Given the description of an element on the screen output the (x, y) to click on. 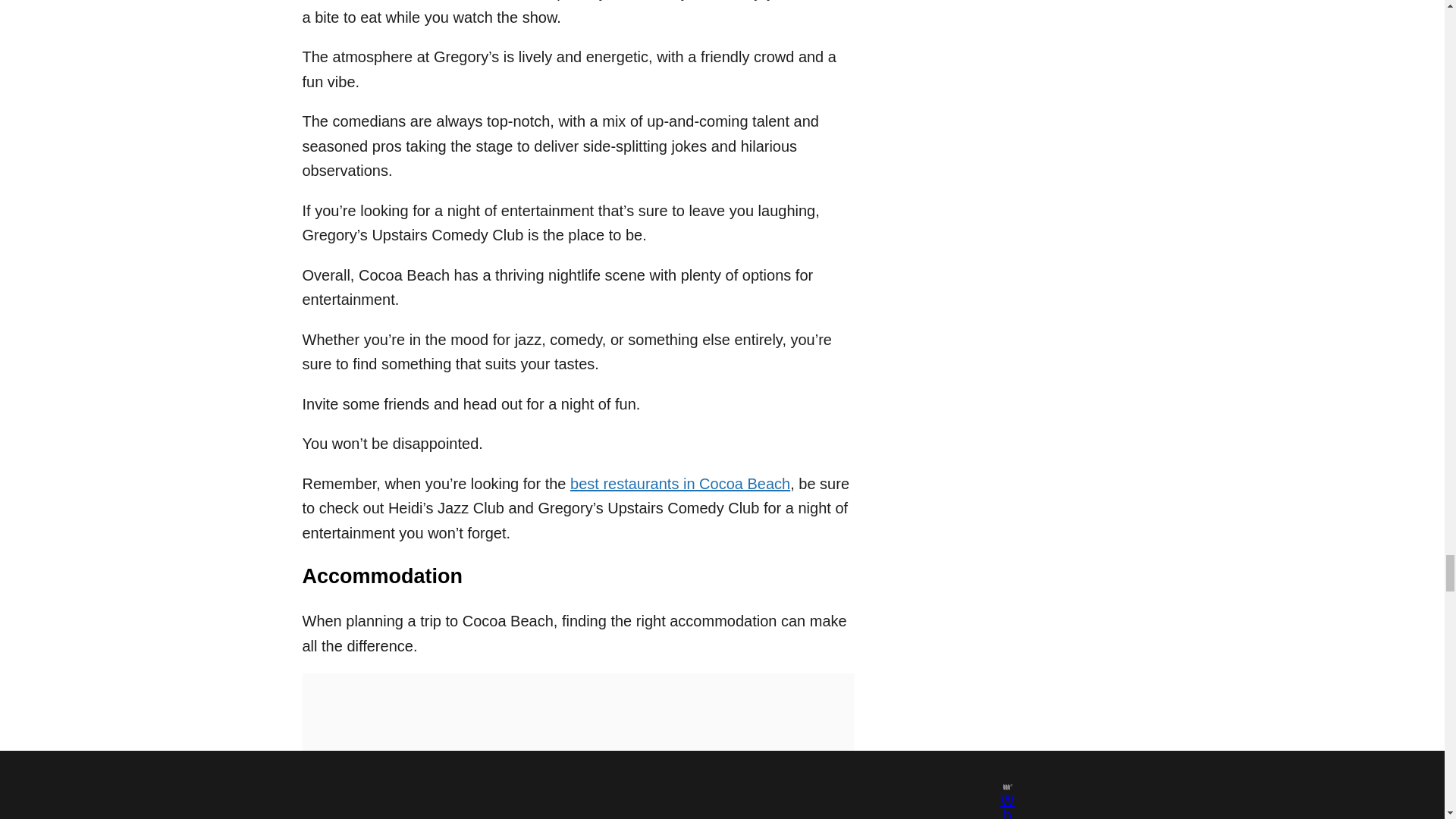
best restaurants in Cocoa Beach (680, 483)
